Given the description of an element on the screen output the (x, y) to click on. 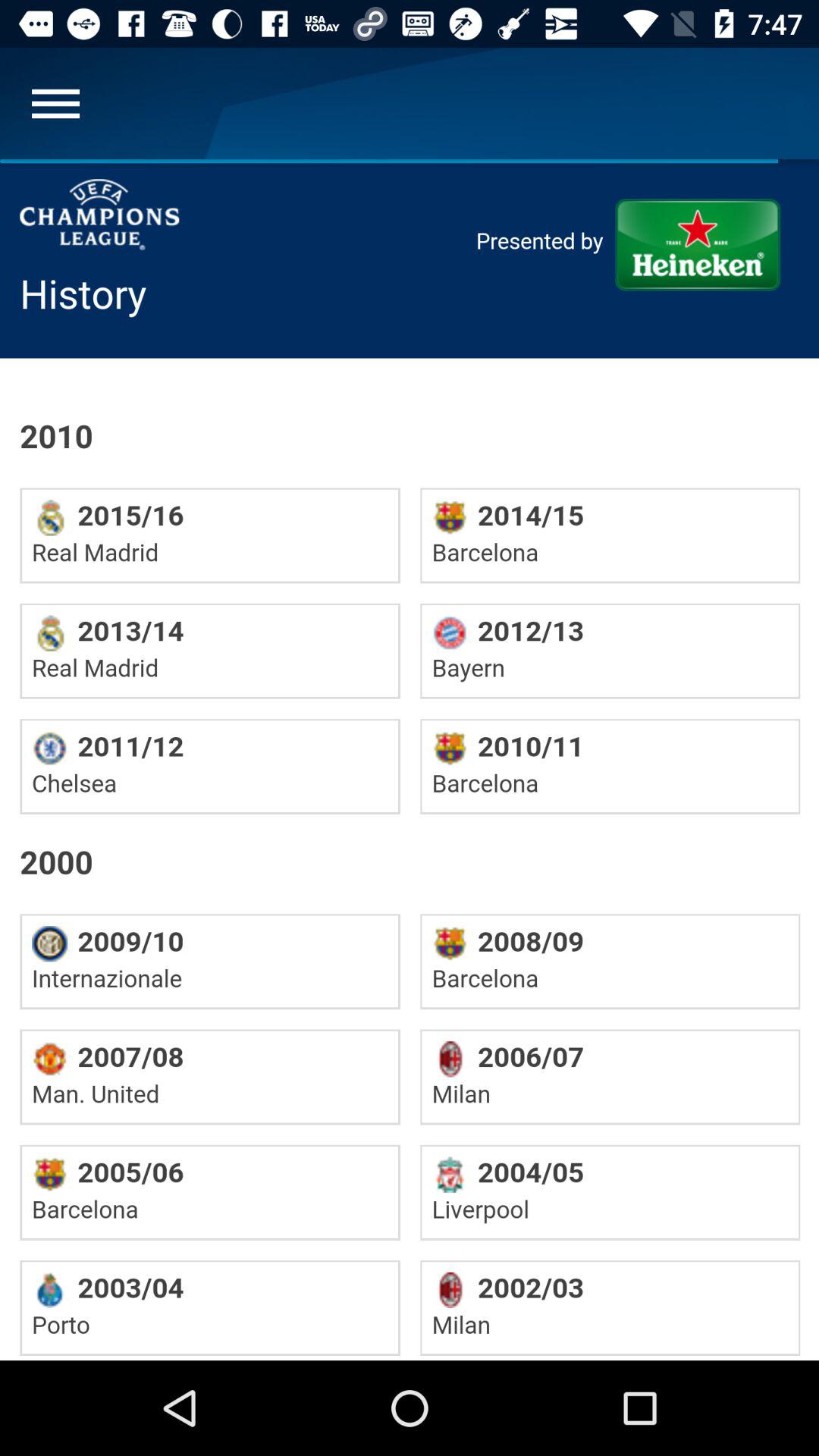
color page (409, 759)
